Given the description of an element on the screen output the (x, y) to click on. 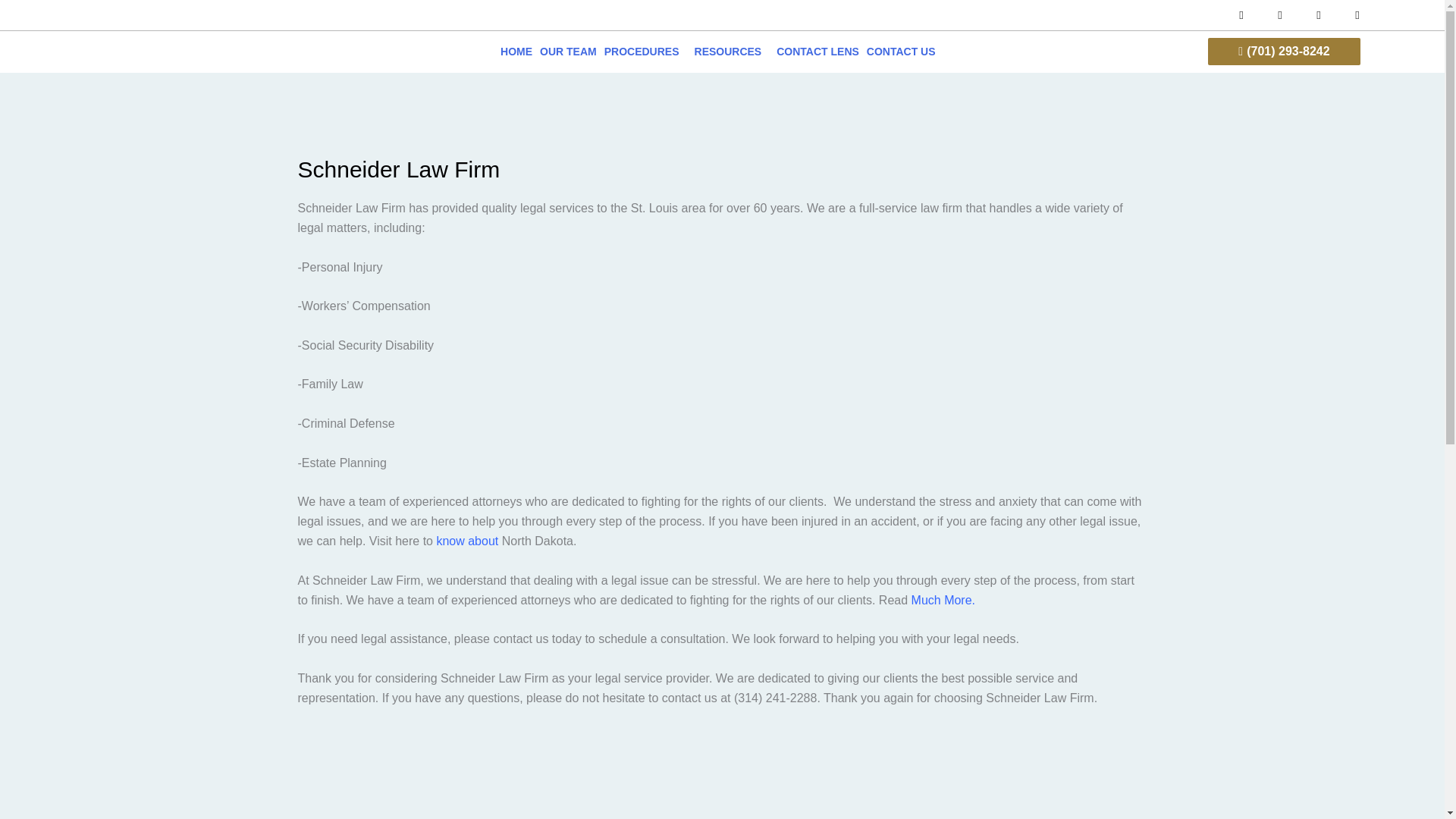
CONTACT LENS (818, 51)
HOME (515, 51)
RESOURCES (731, 51)
PROCEDURES (644, 51)
CONTACT US (901, 51)
OUR TEAM (567, 51)
